Given the description of an element on the screen output the (x, y) to click on. 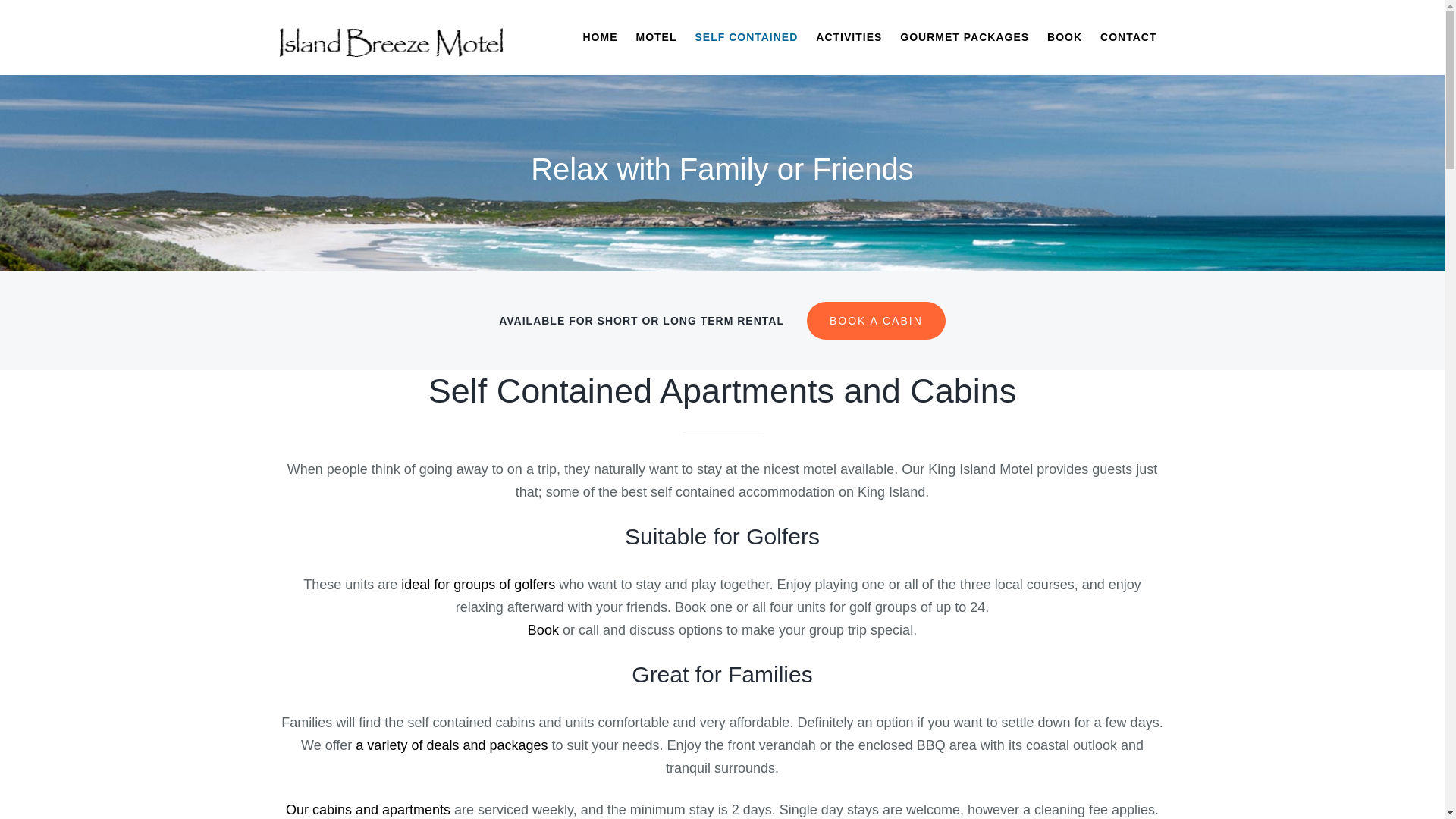
HOME Element type: text (599, 37)
BOOK A CABIN Element type: text (875, 320)
ACTIVITIES Element type: text (848, 37)
Book Element type: text (542, 629)
ideal for groups of golfers Element type: text (478, 584)
CONTACT Element type: text (1128, 37)
MOTEL Element type: text (655, 37)
GOURMET PACKAGES Element type: text (964, 37)
SELF CONTAINED Element type: text (745, 37)
Our cabins and apartments Element type: text (367, 809)
a variety of deals and packages Element type: text (451, 745)
BOOK Element type: text (1064, 37)
